Given the description of an element on the screen output the (x, y) to click on. 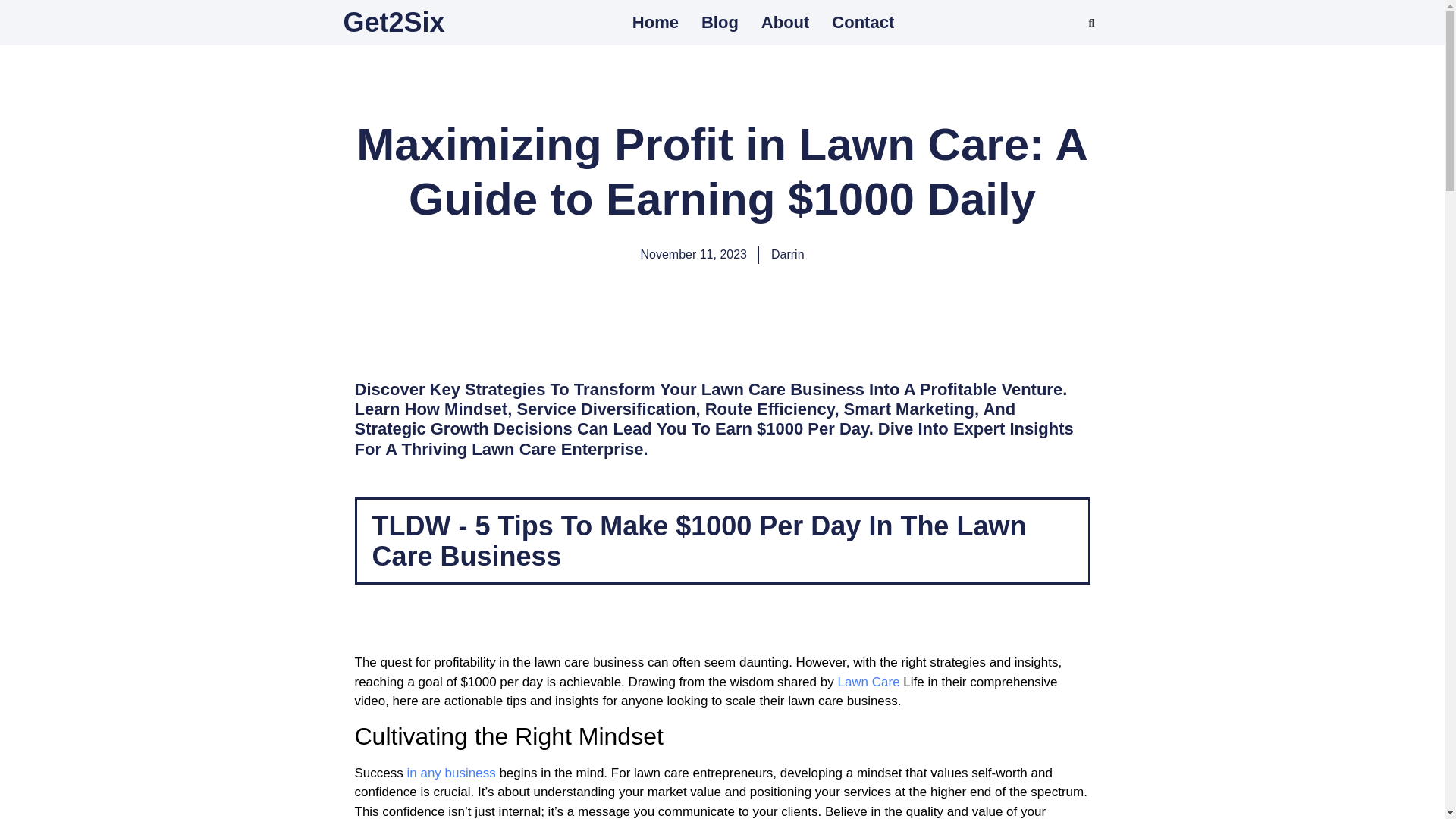
Lawn Care (868, 681)
November 11, 2023 (693, 254)
Home (654, 22)
Contact (862, 22)
in any business (450, 772)
Blog (719, 22)
Darrin (788, 254)
About (785, 22)
